Given the description of an element on the screen output the (x, y) to click on. 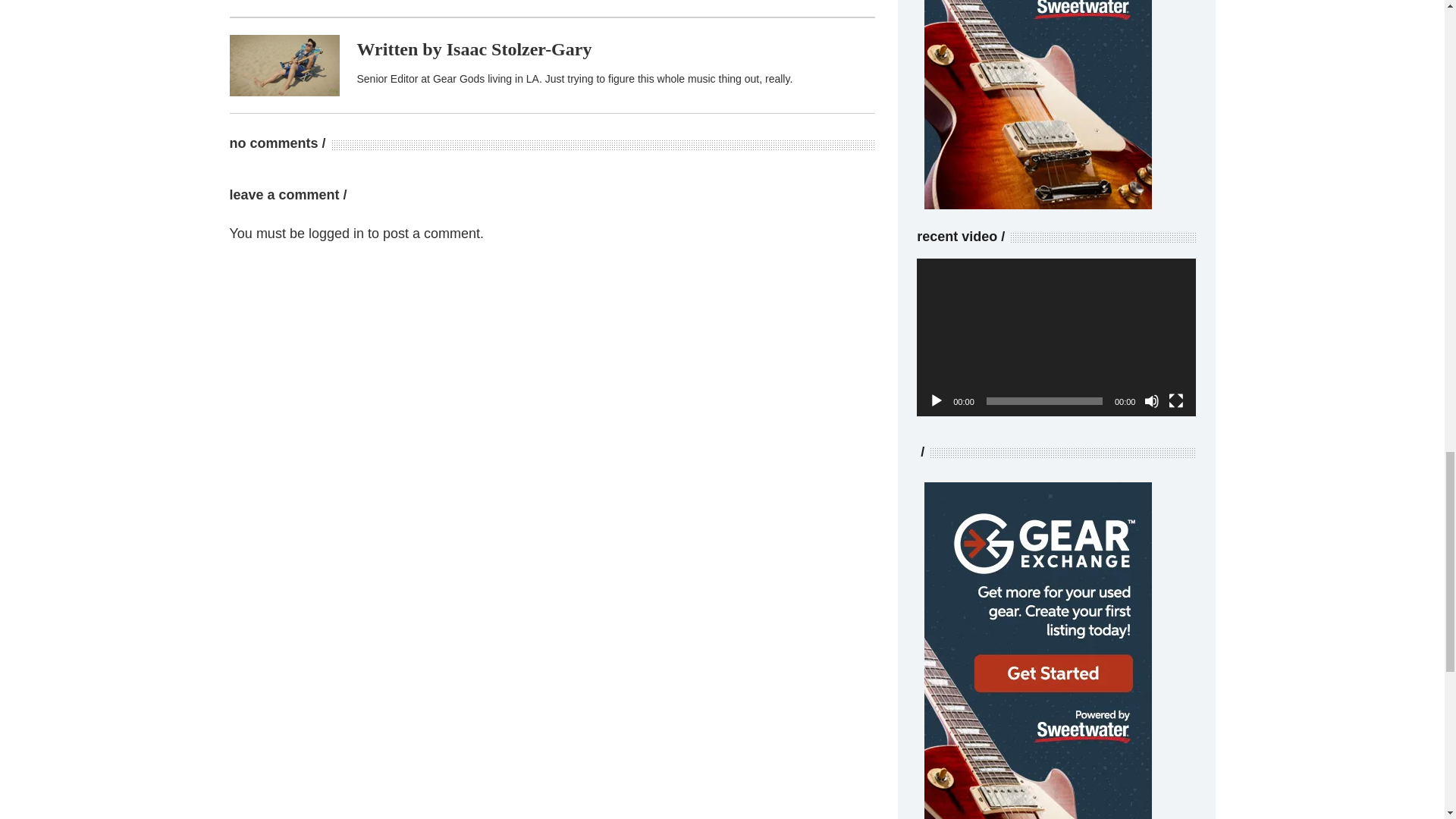
Fullscreen (1176, 400)
Mute (1151, 400)
Play (935, 400)
